Given the description of an element on the screen output the (x, y) to click on. 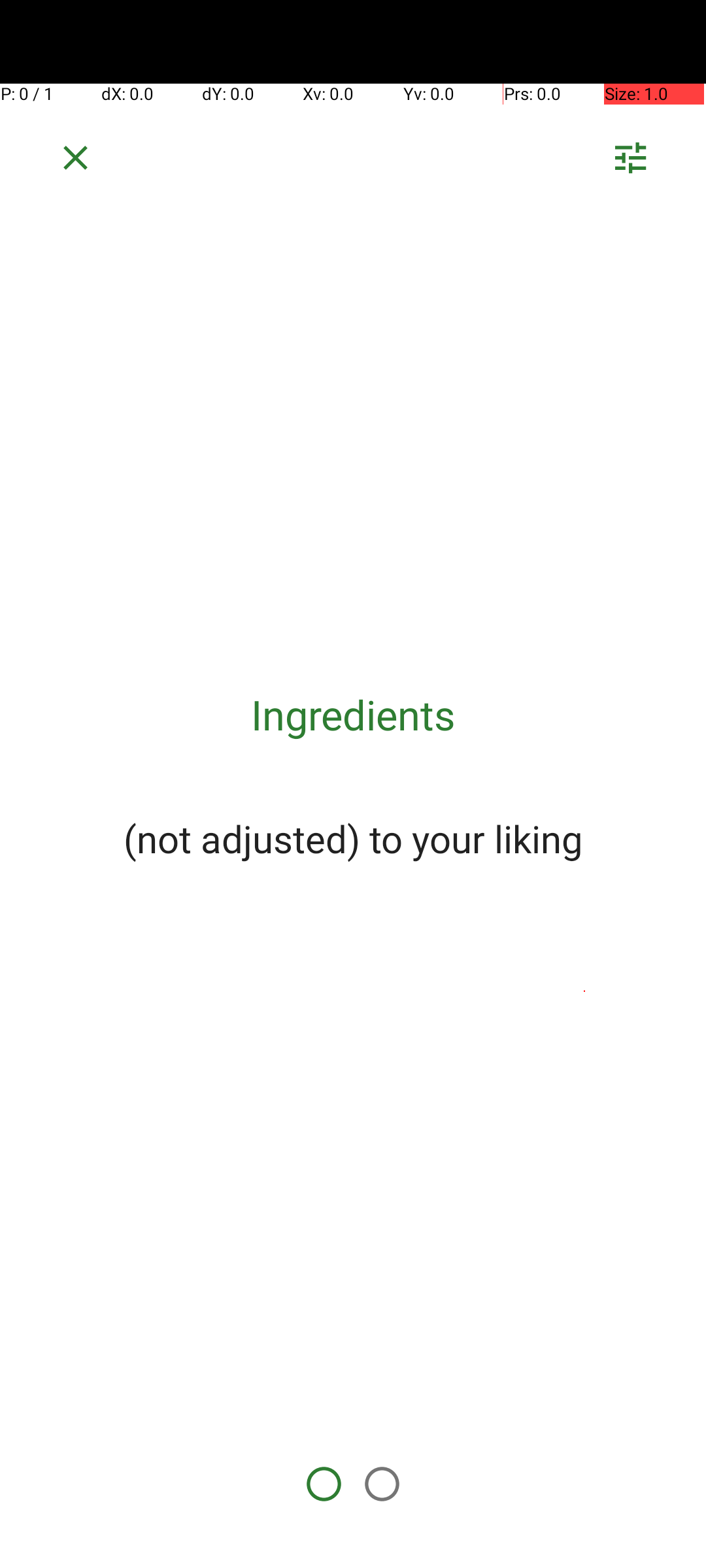
(not adjusted) to your liking Element type: android.widget.TextView (352, 838)
